Given the description of an element on the screen output the (x, y) to click on. 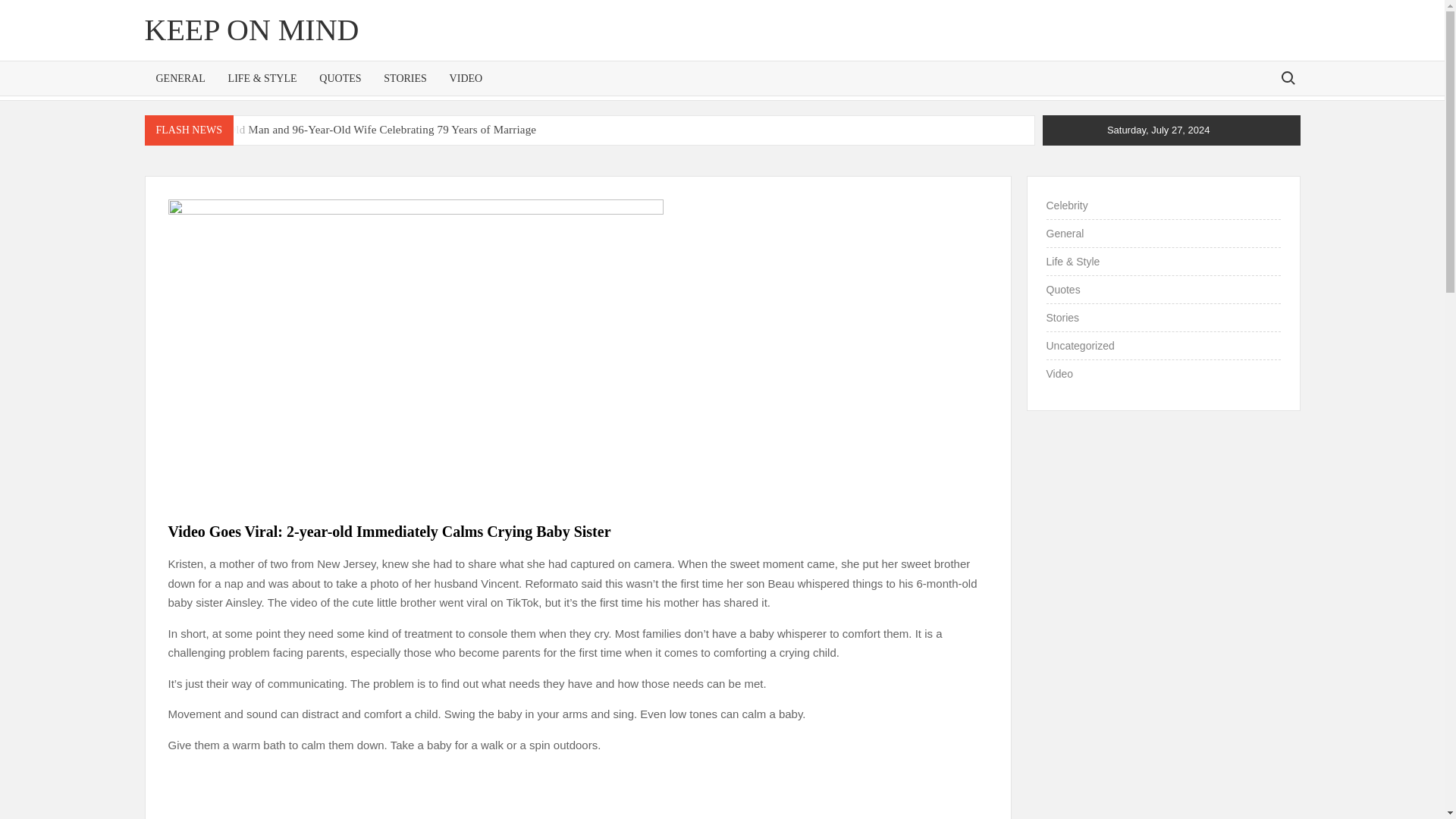
STORIES (405, 78)
Search for: (1287, 77)
Thankful To Be Alive (700, 154)
KEEP ON MIND (251, 29)
QUOTES (339, 78)
GENERAL (179, 78)
VIDEO (466, 78)
Thank You (852, 154)
